Given the description of an element on the screen output the (x, y) to click on. 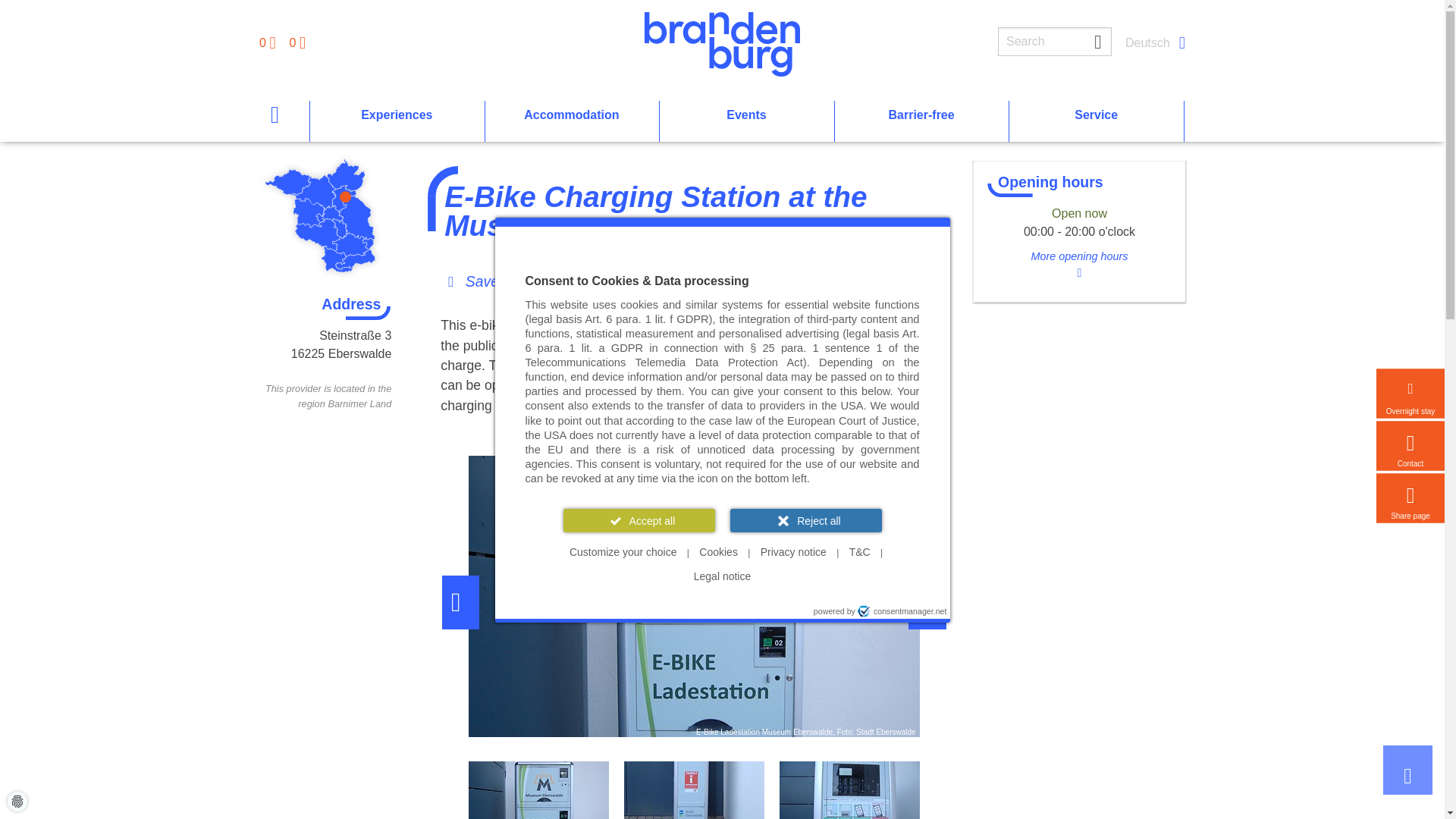
Legal notice (721, 576)
Reject all (804, 520)
Privacy notice (793, 551)
consentmanager.net (902, 611)
Cookies (718, 551)
Accept all (638, 520)
Customize your choice (623, 551)
